Given the description of an element on the screen output the (x, y) to click on. 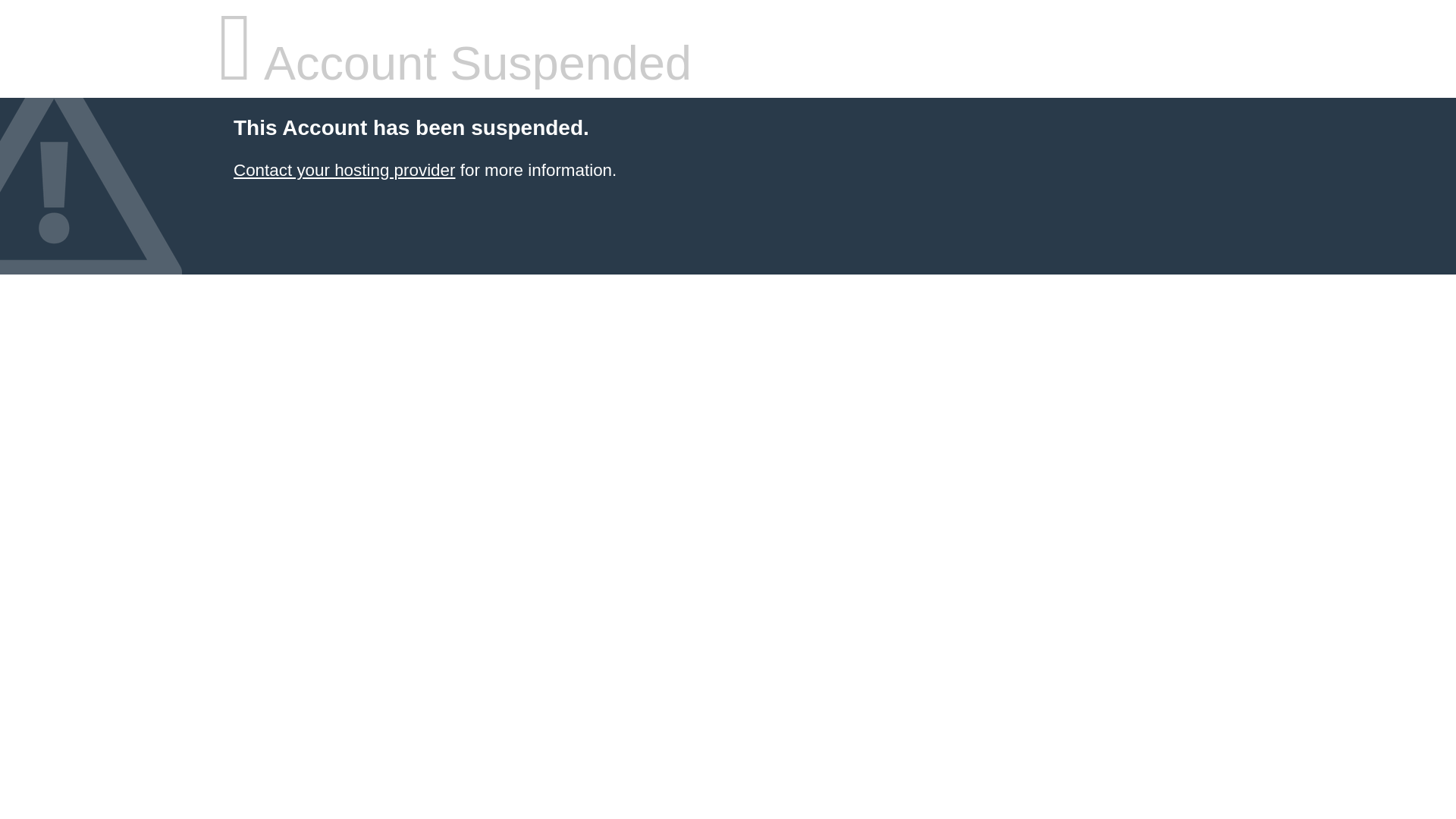
Contact your hosting provider (343, 169)
